Given the description of an element on the screen output the (x, y) to click on. 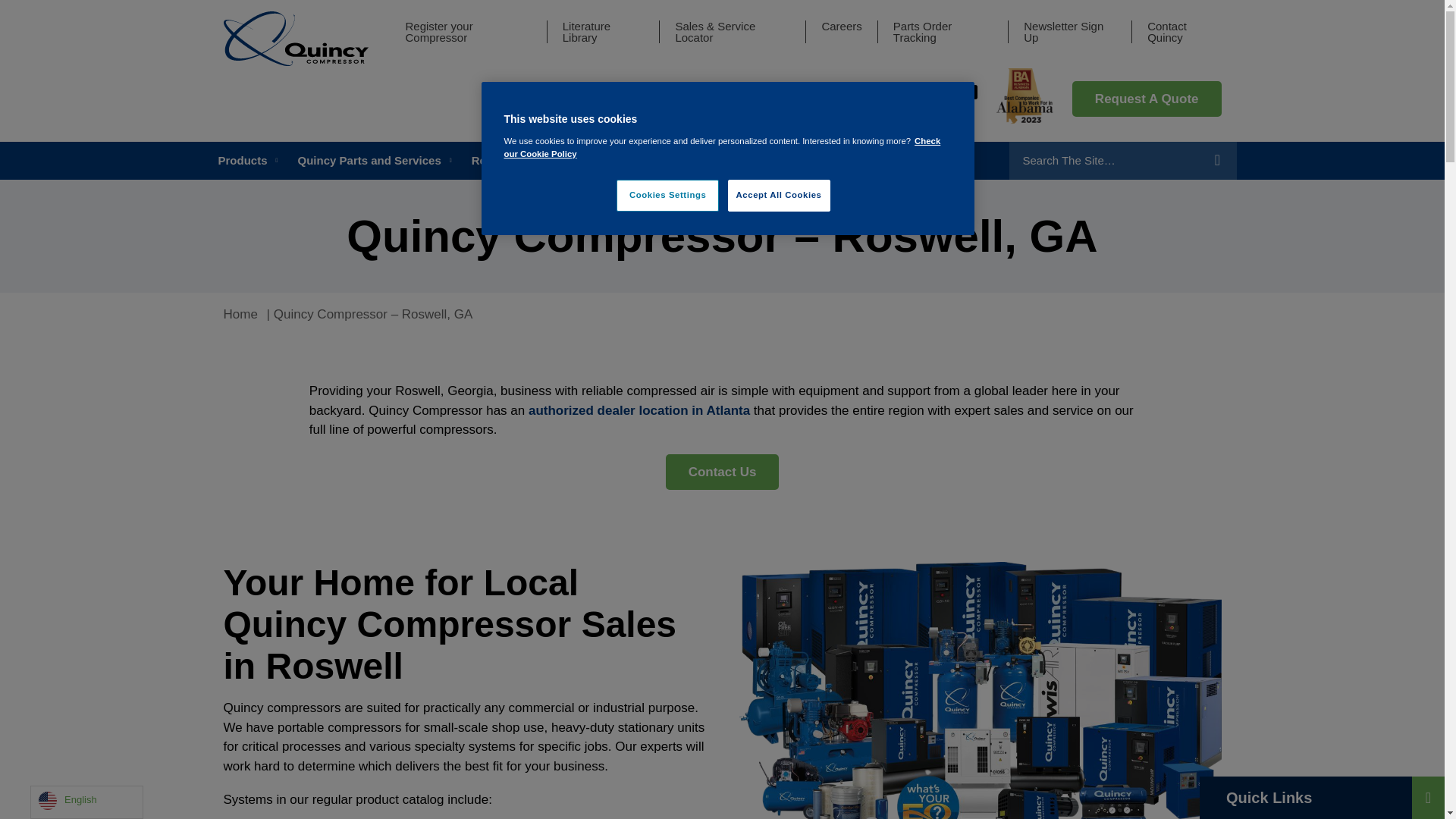
Literature Library (603, 31)
Register your Compressor (467, 31)
Careers (841, 25)
Parts Order Tracking (942, 31)
Newsletter Sign Up (1069, 31)
Quincy Compressor, LLC, Compressors, Bay Minette, AL (938, 99)
Contact Quincy (1184, 31)
Request A Quote (1146, 99)
